Given the description of an element on the screen output the (x, y) to click on. 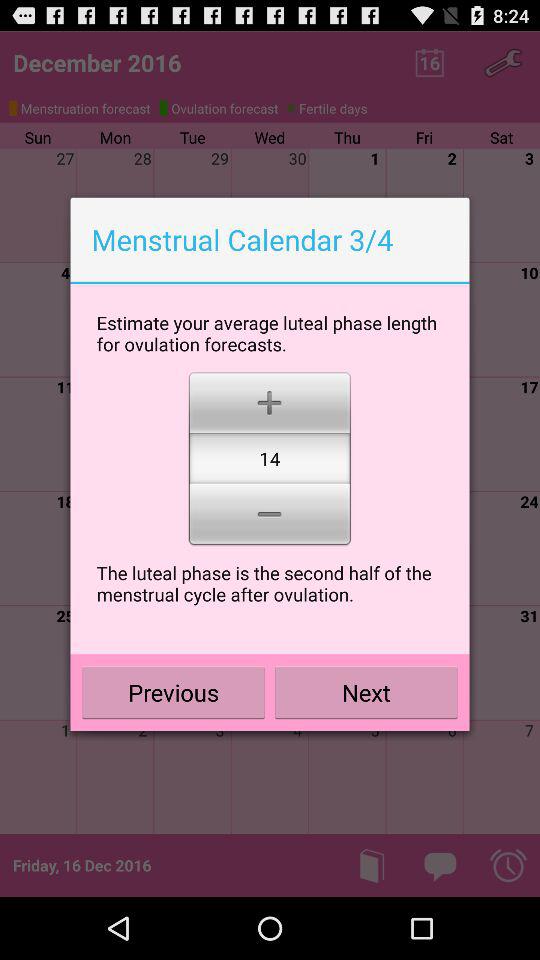
minus one button for counting (269, 515)
